Given the description of an element on the screen output the (x, y) to click on. 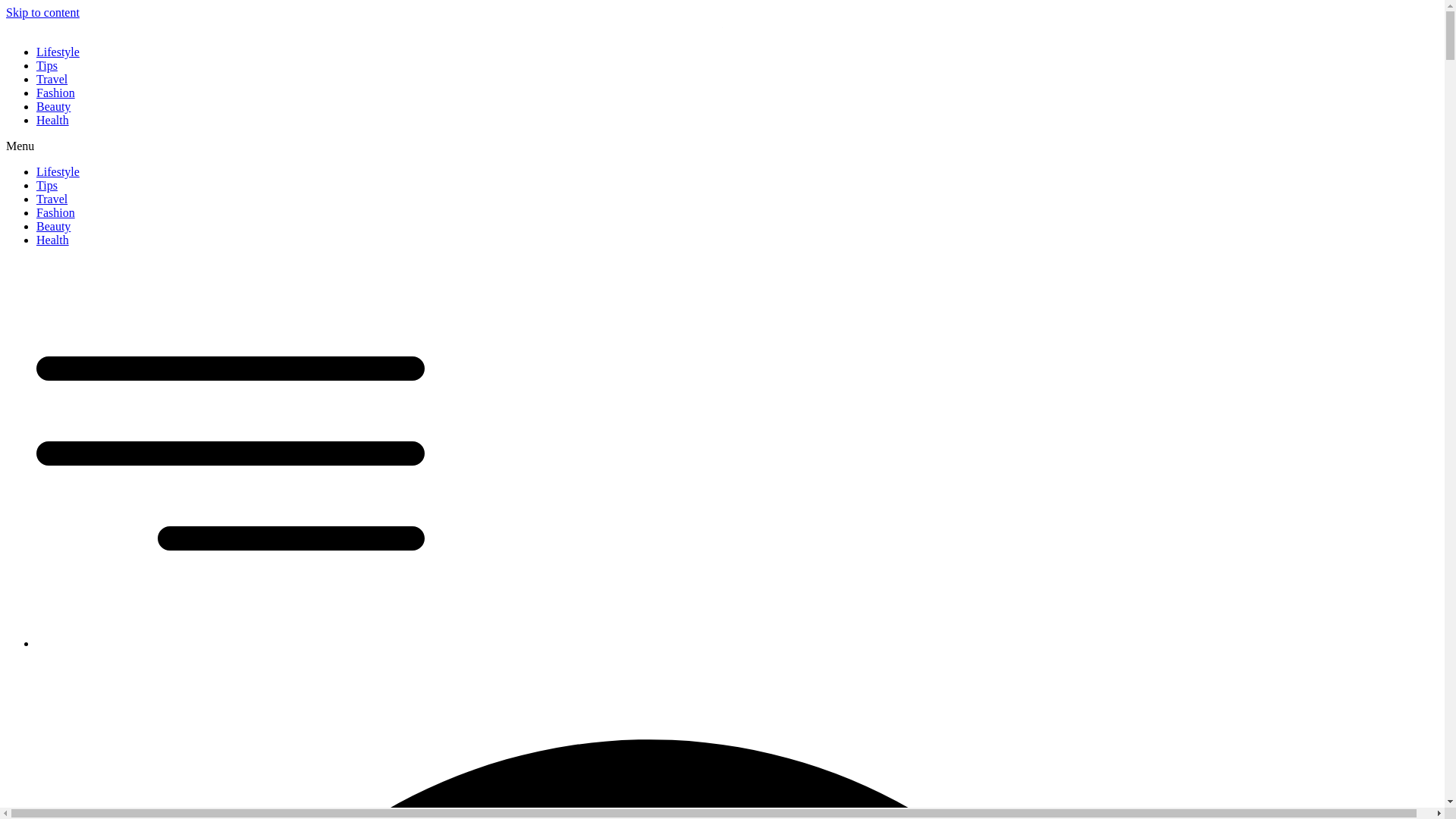
Beauty (52, 226)
Lifestyle (58, 171)
Travel (51, 78)
Travel (51, 198)
Health (52, 239)
Beauty (52, 106)
Health (52, 119)
Tips (47, 185)
Lifestyle (58, 51)
Skip to content (42, 11)
Fashion (55, 92)
Tips (47, 65)
Fashion (55, 212)
